Given the description of an element on the screen output the (x, y) to click on. 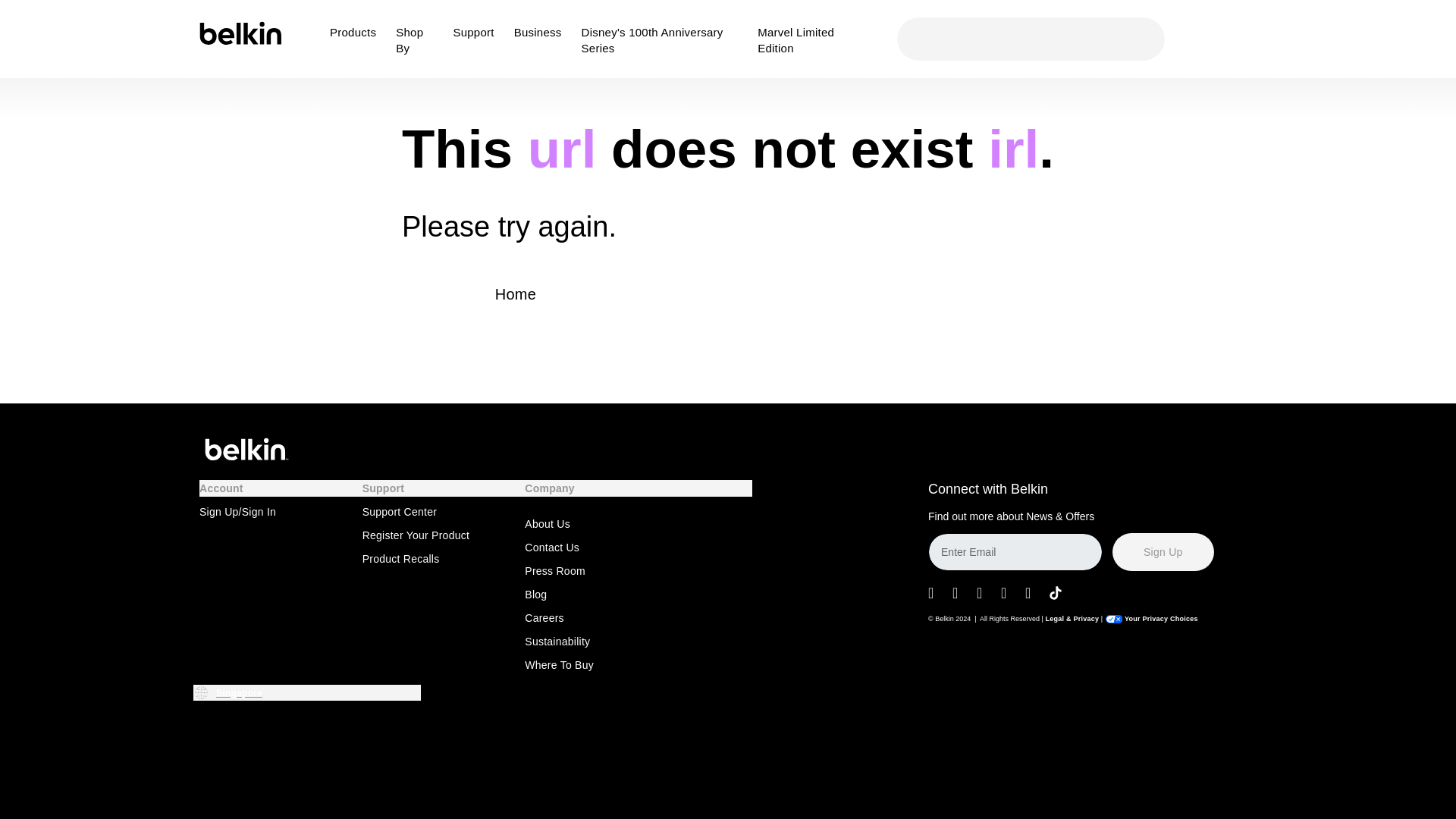
Belkin SG Home (242, 39)
Products (356, 48)
Products (356, 48)
